Given the description of an element on the screen output the (x, y) to click on. 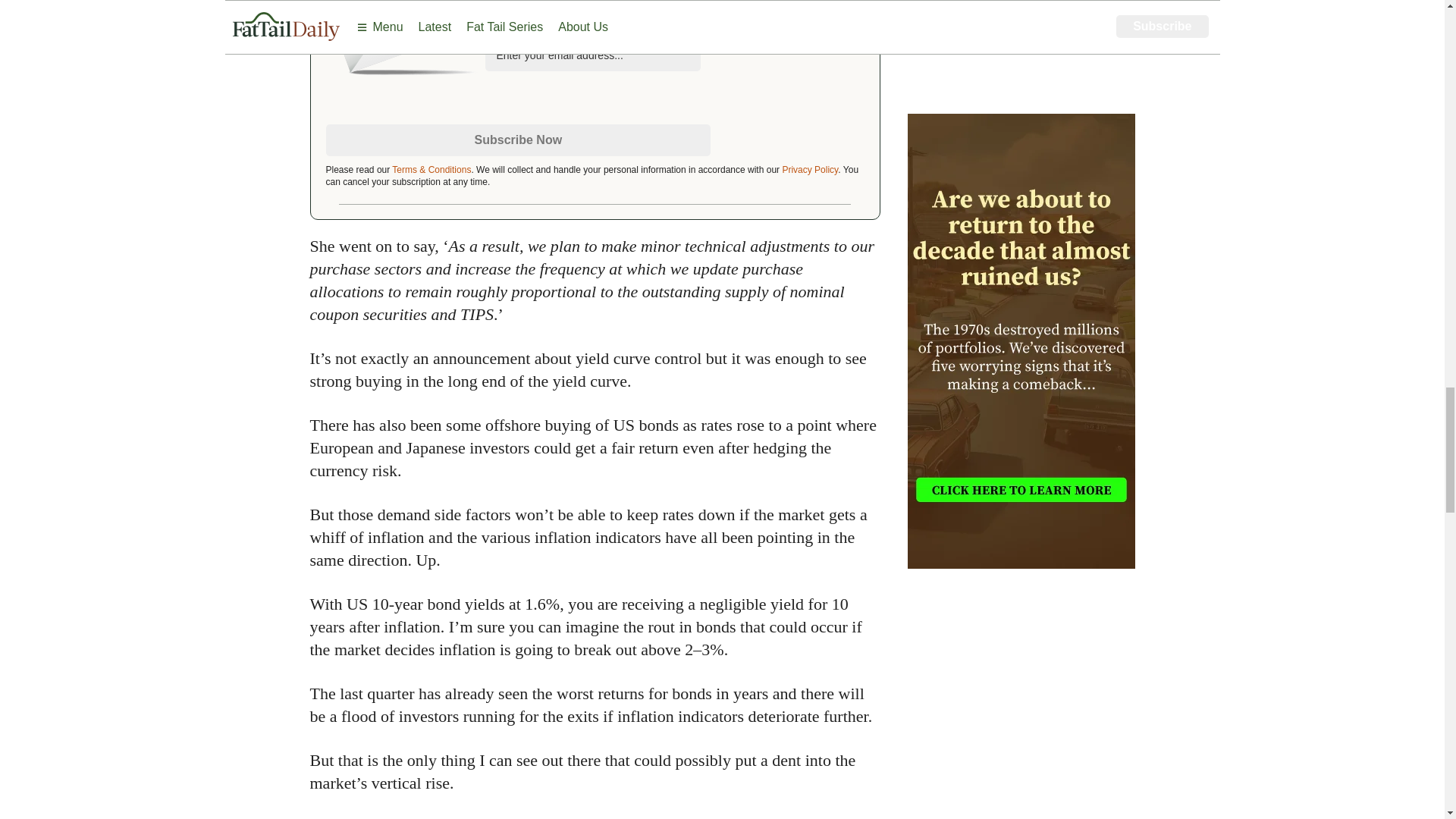
Subscribe Now (518, 140)
